Given the description of an element on the screen output the (x, y) to click on. 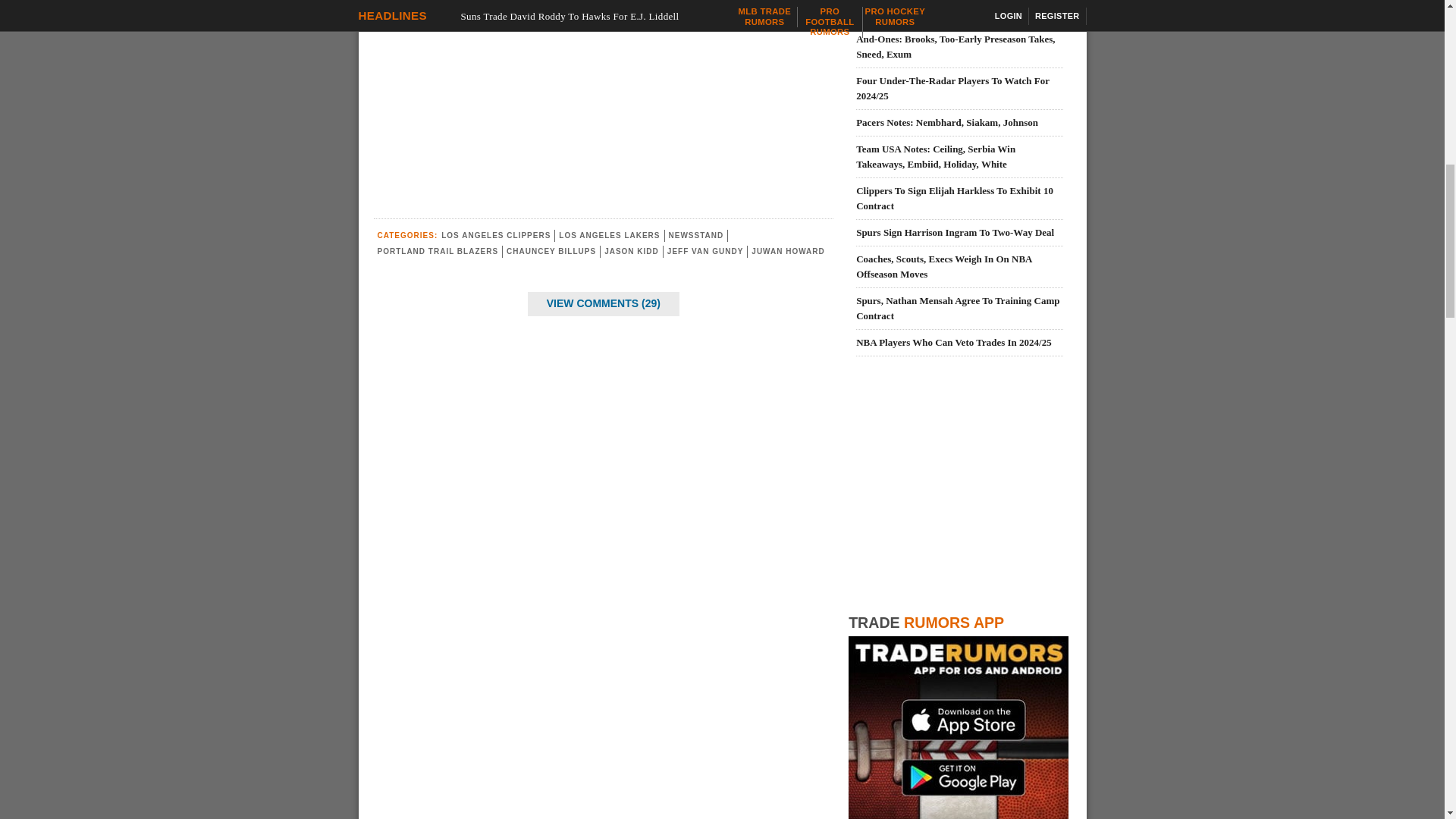
View all posts in Los Angeles Lakers (609, 234)
View all posts in Juwan Howard (787, 251)
View all posts in Los Angeles Clippers (495, 234)
View all posts in Portland Trail Blazers (438, 251)
View all posts in Chauncey Billups (550, 251)
View all posts in Jason Kidd (631, 251)
View all posts in Jeff Van Gundy (705, 251)
View all posts in Newsstand (695, 234)
